Given the description of an element on the screen output the (x, y) to click on. 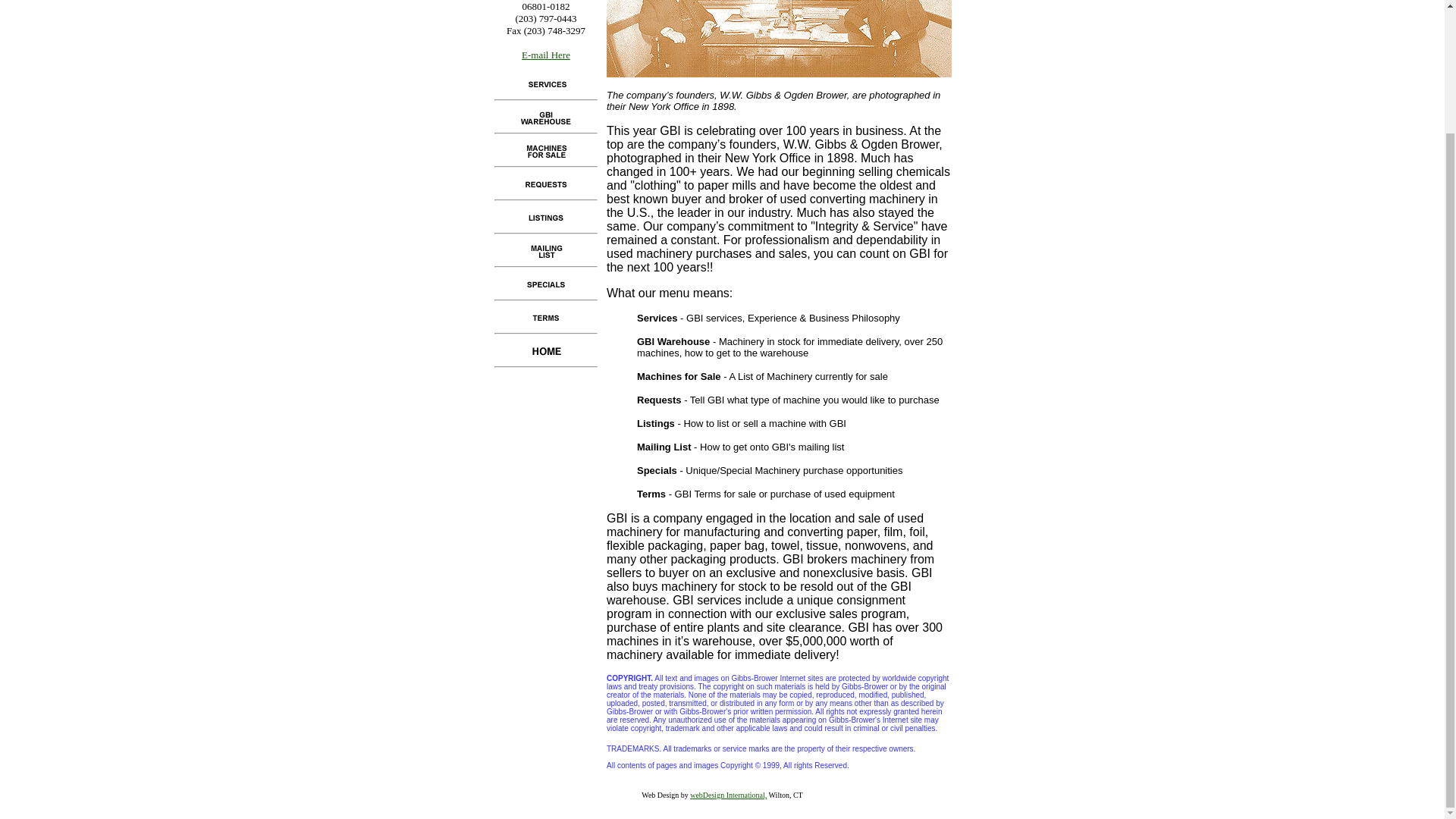
webDesign International, (728, 795)
E-mail Here (545, 59)
